Given the description of an element on the screen output the (x, y) to click on. 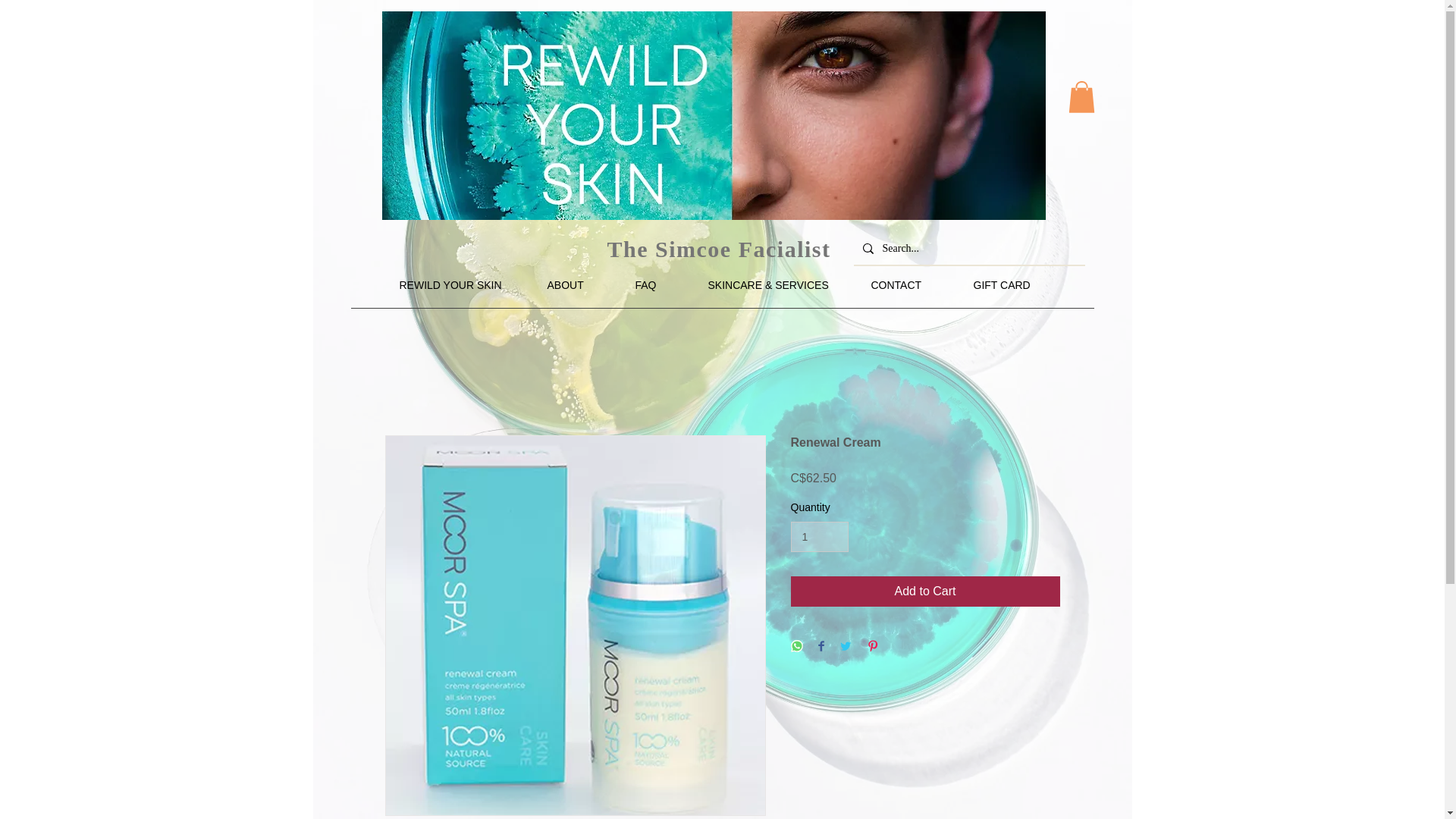
GIFT CARD (1013, 284)
1 (818, 536)
FAQ (659, 284)
CONTACT (911, 284)
REWILD YOUR SKIN (461, 284)
ABOUT (579, 284)
Add to Cart (924, 591)
